Given the description of an element on the screen output the (x, y) to click on. 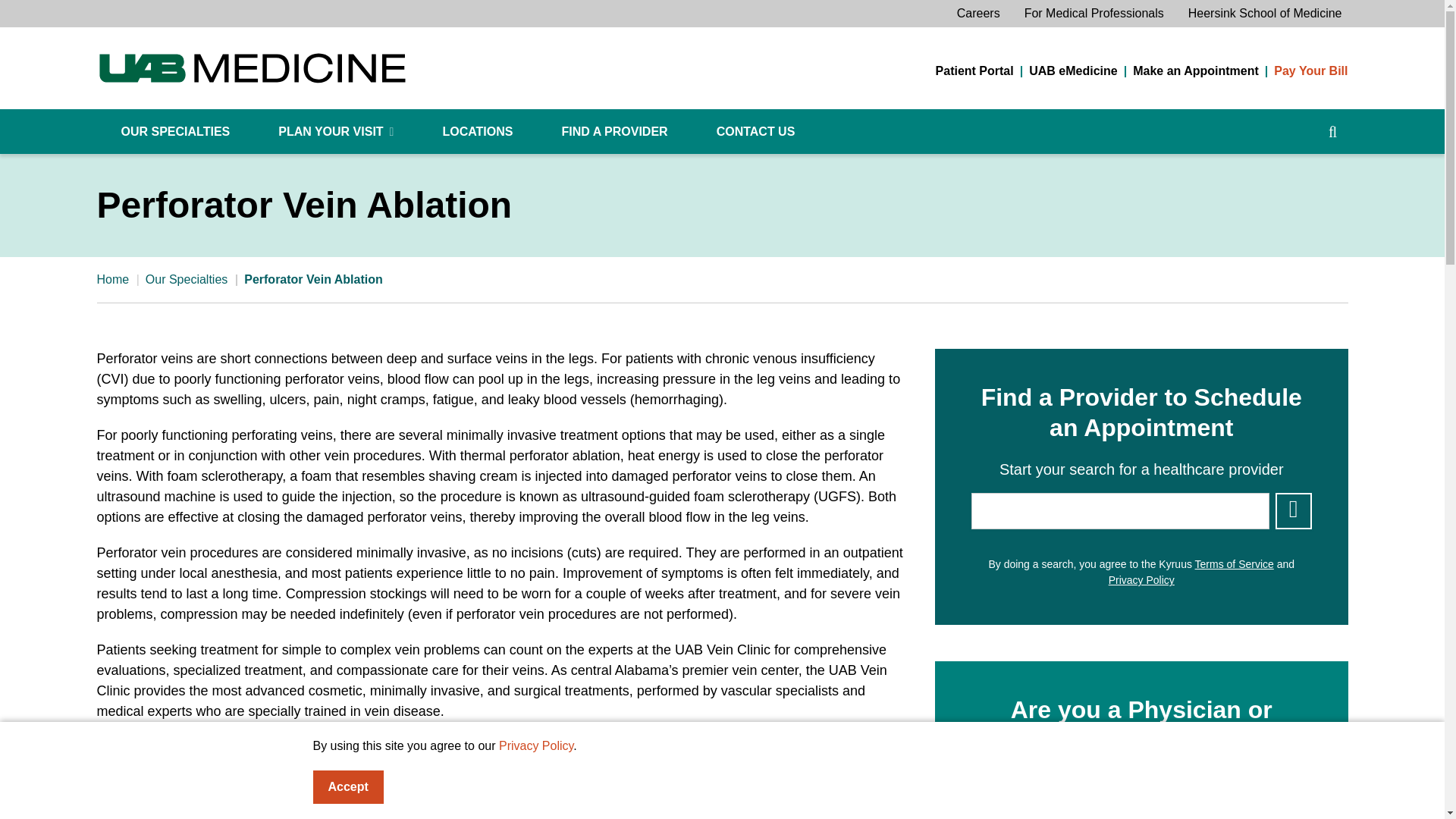
LOCATIONS (477, 131)
Patient Portal (974, 70)
Pay Your Bill (1311, 70)
Careers (978, 13)
Make an Appointment (1195, 70)
Heersink School of Medicine (1265, 13)
FIND A PROVIDER (614, 131)
PLAN YOUR VISIT (335, 131)
CONTACT US (756, 131)
Go to UAB Medicine. (113, 278)
Go to Our Specialties. (186, 278)
UAB eMedicine (1072, 70)
OUR SPECIALTIES (175, 131)
For Medical Professionals (1093, 13)
